Given the description of an element on the screen output the (x, y) to click on. 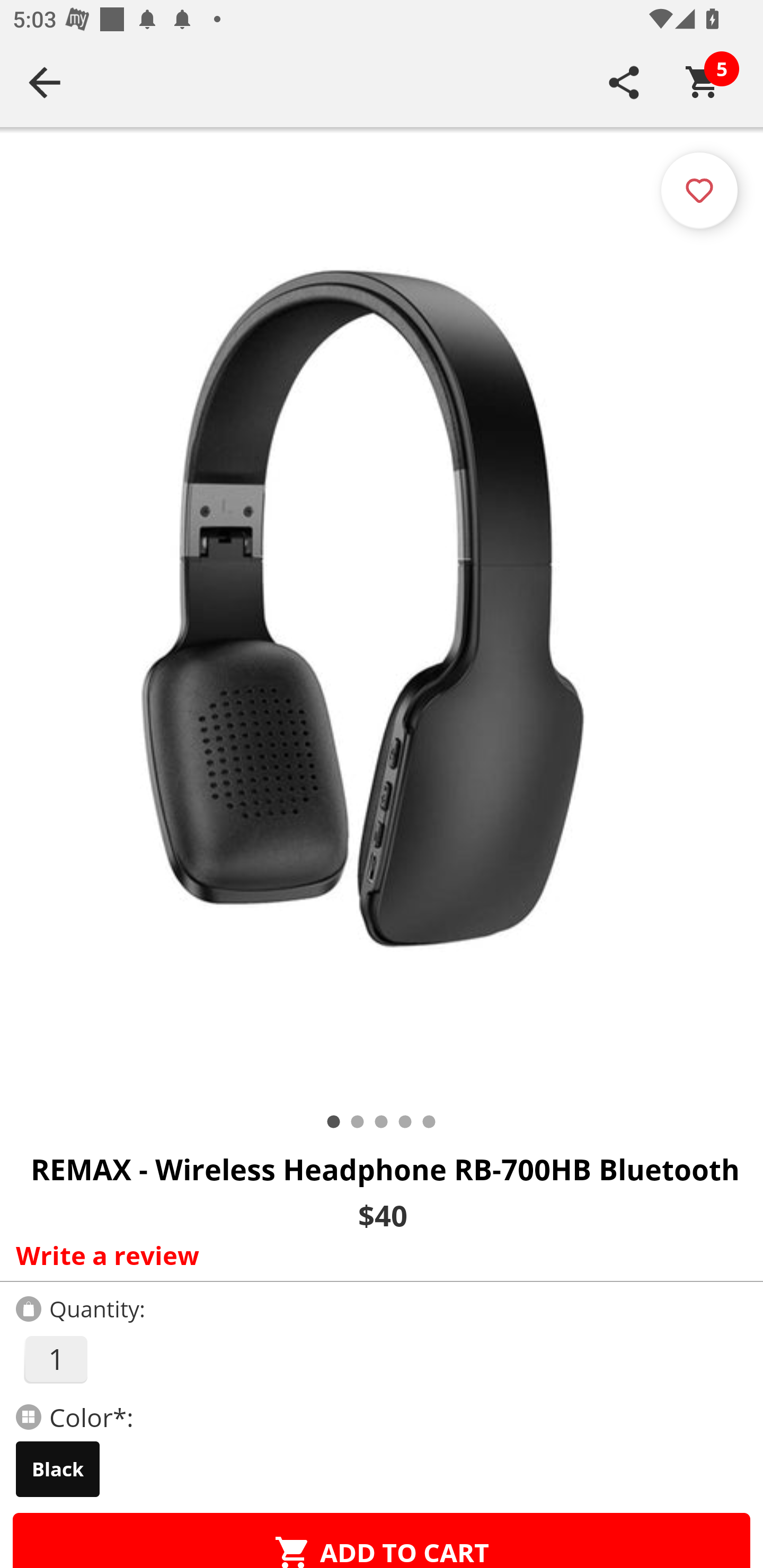
Navigate up (44, 82)
SHARE (623, 82)
Cart (703, 81)
Write a review (377, 1255)
1 (55, 1358)
Black (57, 1468)
ADD TO CART (381, 1540)
